Given the description of an element on the screen output the (x, y) to click on. 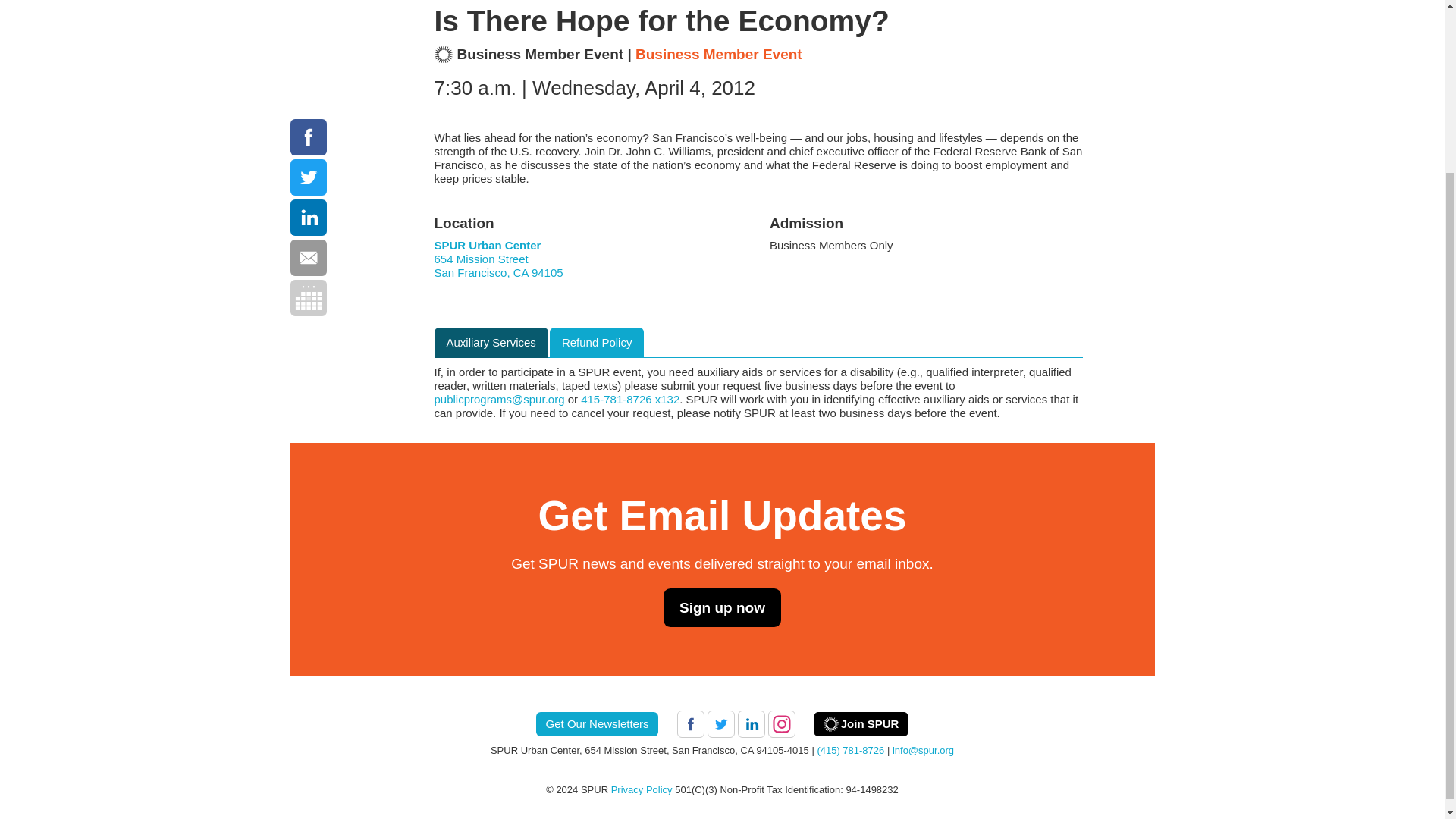
Share on LinkedIn (307, 217)
Share on Facebook (307, 136)
Share on Twitter (307, 176)
Get Our Newsletters (597, 723)
Share via Email (307, 257)
Follow SPUR on Facebook (690, 723)
